Given the description of an element on the screen output the (x, y) to click on. 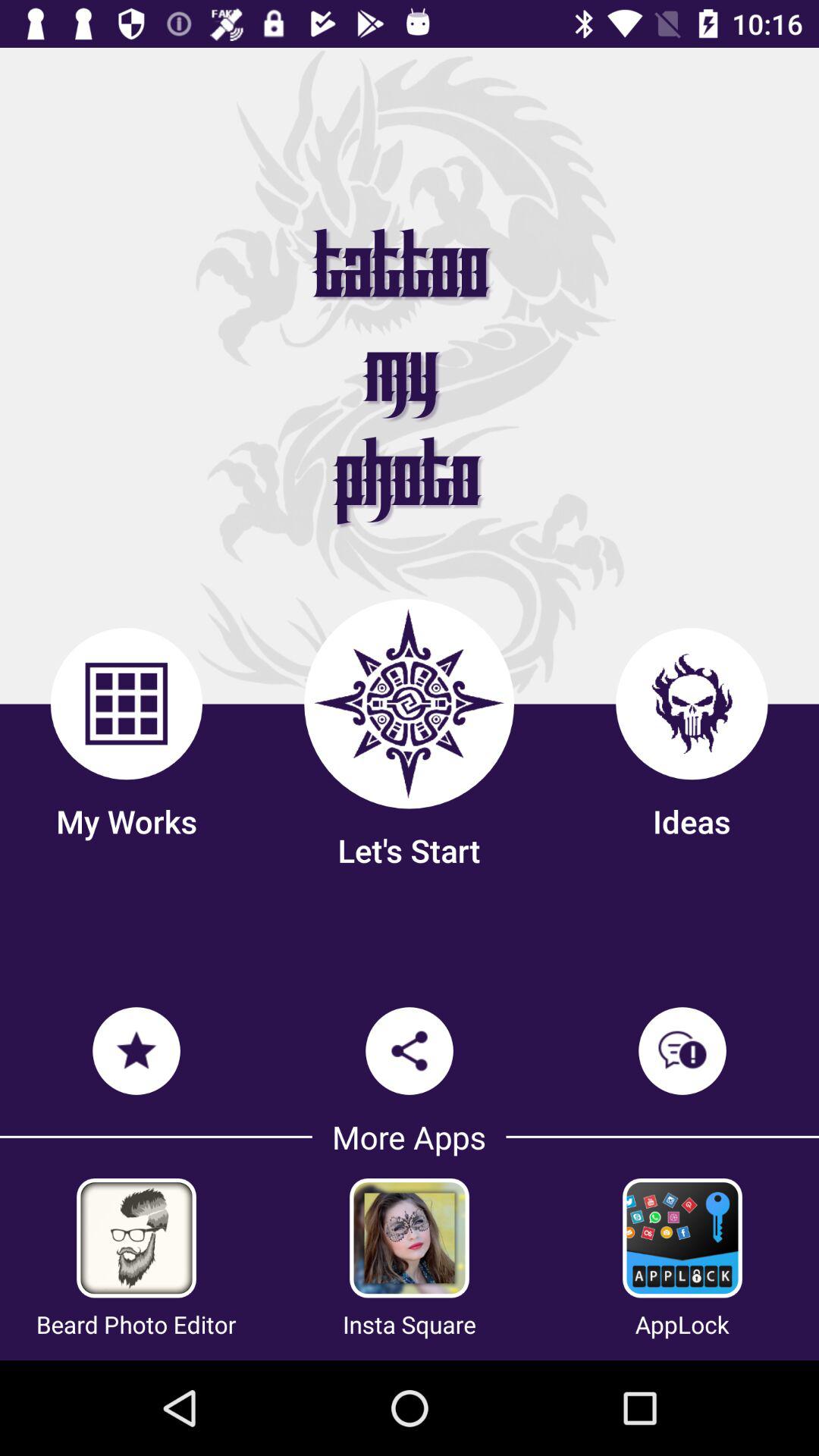
jump until applock icon (682, 1324)
